Given the description of an element on the screen output the (x, y) to click on. 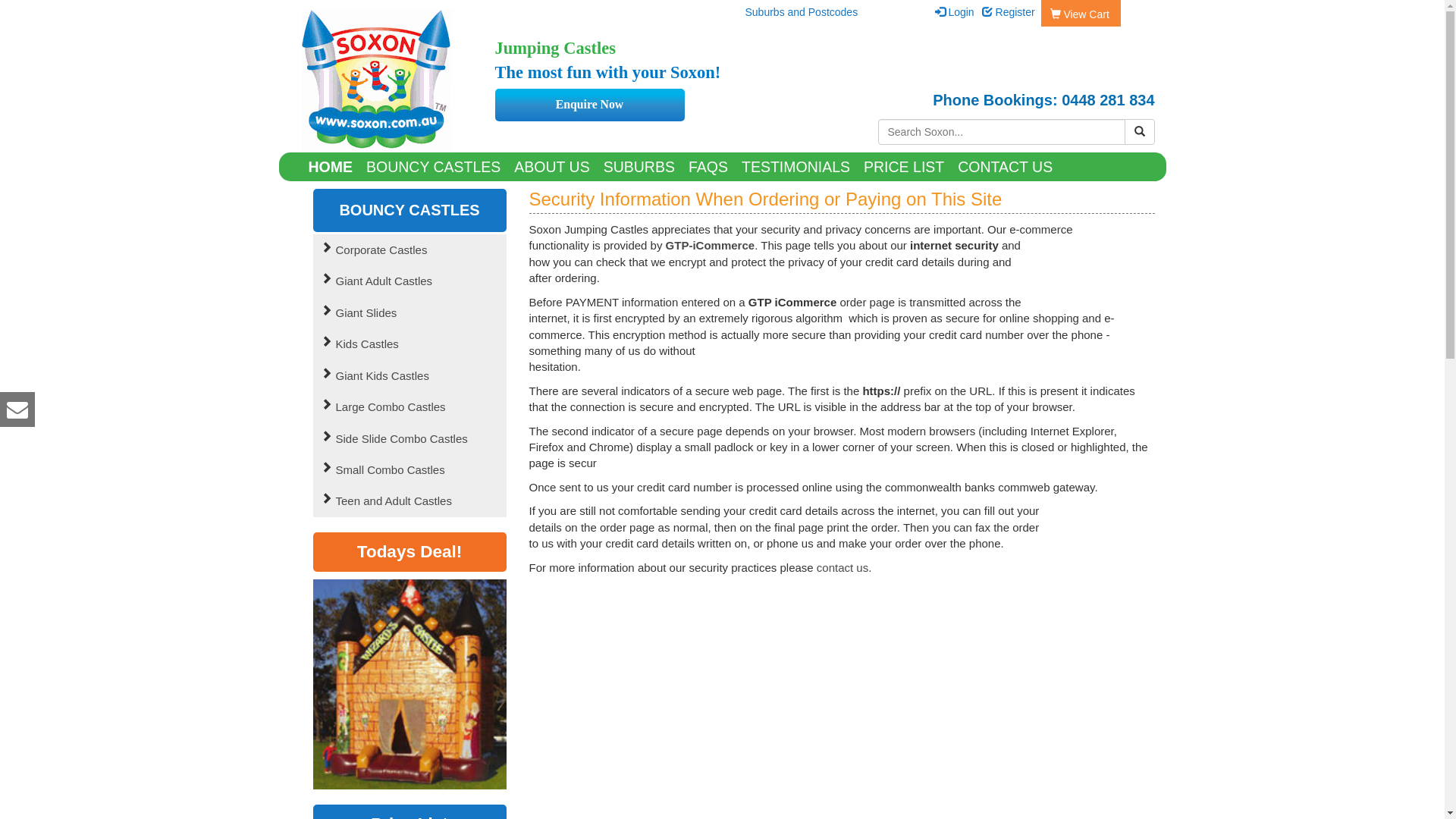
Login Element type: text (960, 12)
BOUNCY CASTLES Element type: text (433, 166)
FAQS Element type: text (707, 166)
Giant Slides Element type: text (409, 312)
submit Element type: text (1138, 131)
Enquire Now Element type: text (589, 103)
Corporate Castles Element type: text (409, 249)
0448 281 834 Element type: text (1107, 99)
Teen and Adult Castles Element type: text (409, 500)
Small Combo Castles Element type: text (409, 469)
Side Slide Combo Castles Element type: text (409, 438)
Search Element type: hover (1139, 130)
View Cart Element type: text (1080, 13)
Giant Kids Castles Element type: text (409, 375)
TESTIMONIALS Element type: text (795, 166)
Soxon Element type: hover (376, 80)
contact us Element type: text (842, 567)
Search Site Element type: hover (1138, 131)
Kids Castles Element type: text (409, 343)
Giant Adult Castles Element type: text (409, 280)
Suburbs and Postcodes Element type: text (800, 12)
Register Element type: text (1015, 12)
CONTACT US Element type: text (1004, 166)
PRICE LIST Element type: text (903, 166)
Todays Deal! Element type: text (409, 551)
GTP-iCommerce Element type: text (710, 244)
SUBURBS Element type: text (638, 166)
Search Products Element type: hover (1001, 131)
ABOUT US Element type: text (551, 166)
HOME Element type: text (330, 166)
Large Combo Castles Element type: text (409, 406)
Soxon Element type: hover (578, 80)
